Given the description of an element on the screen output the (x, y) to click on. 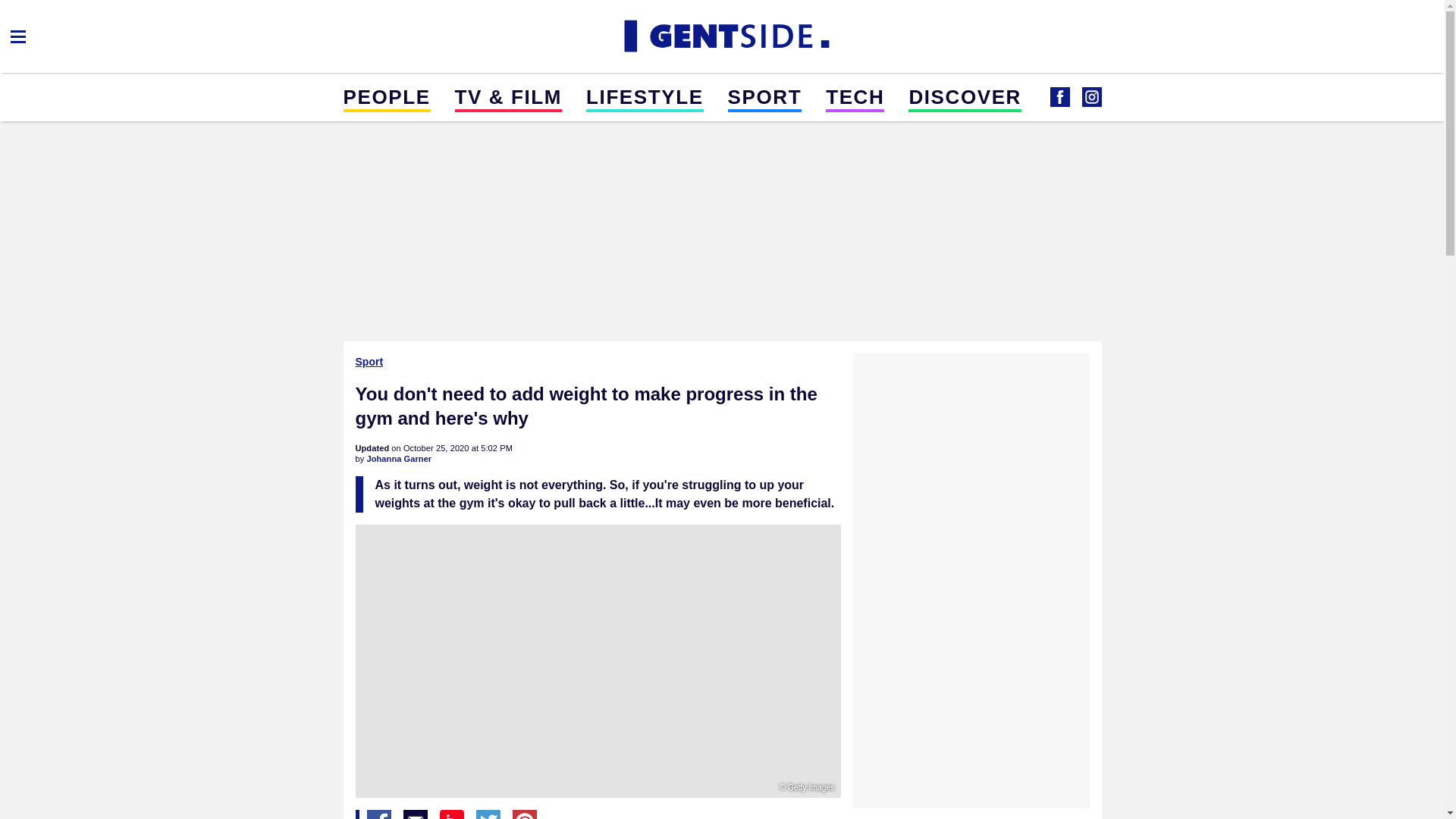
Gentside UK (721, 36)
Tweeter (488, 814)
DISCOVER (965, 96)
Johanna Garner (398, 458)
LIFESTYLE (644, 96)
Gentside UK (1090, 96)
Gentside Lifestyle (1058, 96)
Pin it (524, 814)
Share on Mail (415, 814)
Share on Flipboard (451, 814)
PEOPLE (385, 96)
SPORT (765, 96)
Johanna Garner (398, 458)
Sport (370, 361)
Share on Facebook (378, 814)
